Given the description of an element on the screen output the (x, y) to click on. 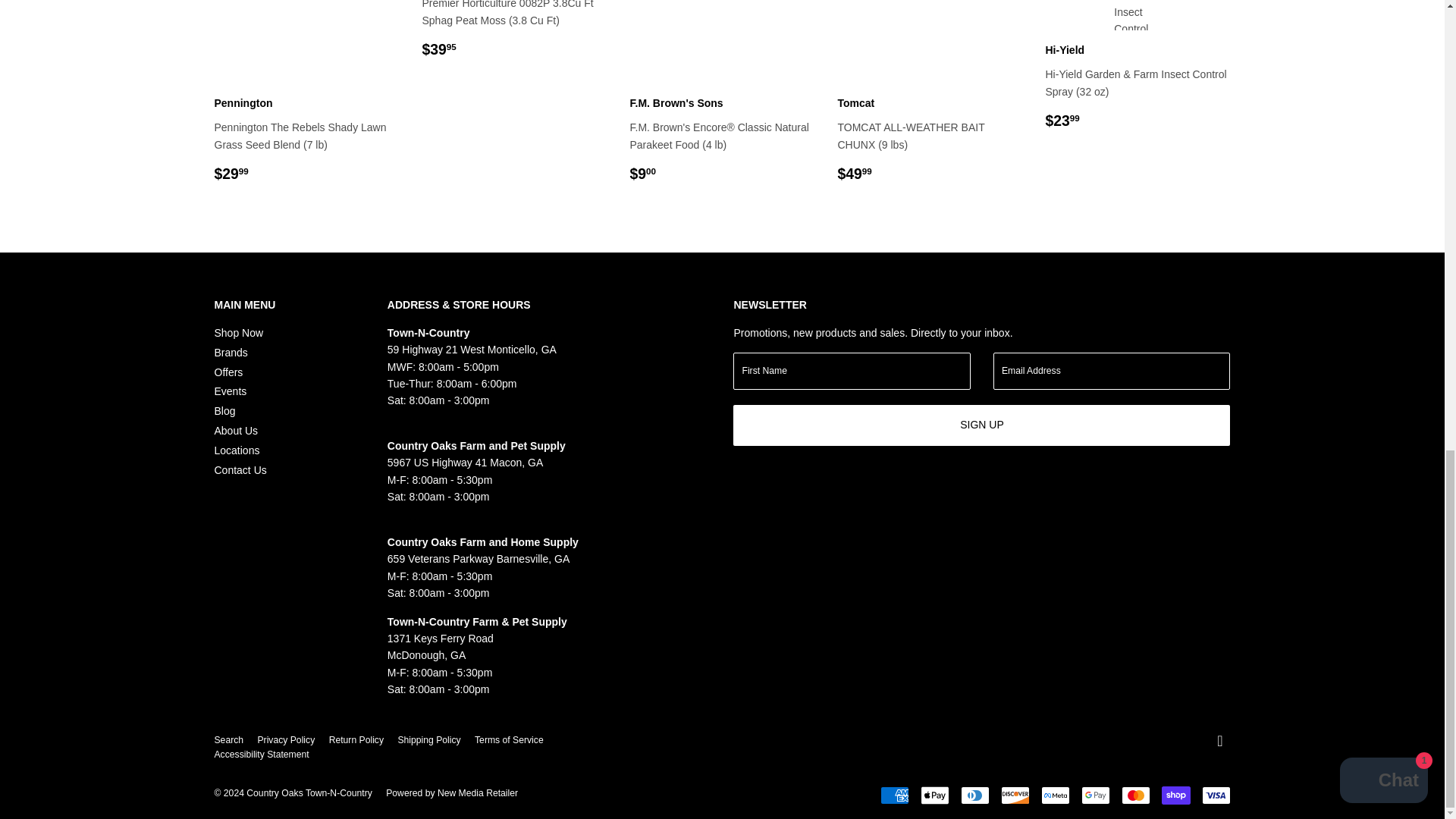
New Media Retailer (451, 792)
Discover (1015, 795)
Mastercard (1135, 795)
Diners Club (973, 795)
Country Oaks Town-N-Country on Facebook (1220, 742)
Visa (1215, 795)
Meta Pay (1054, 795)
American Express (893, 795)
Shop Pay (1176, 795)
Google Pay (1095, 795)
Apple Pay (934, 795)
